Given the description of an element on the screen output the (x, y) to click on. 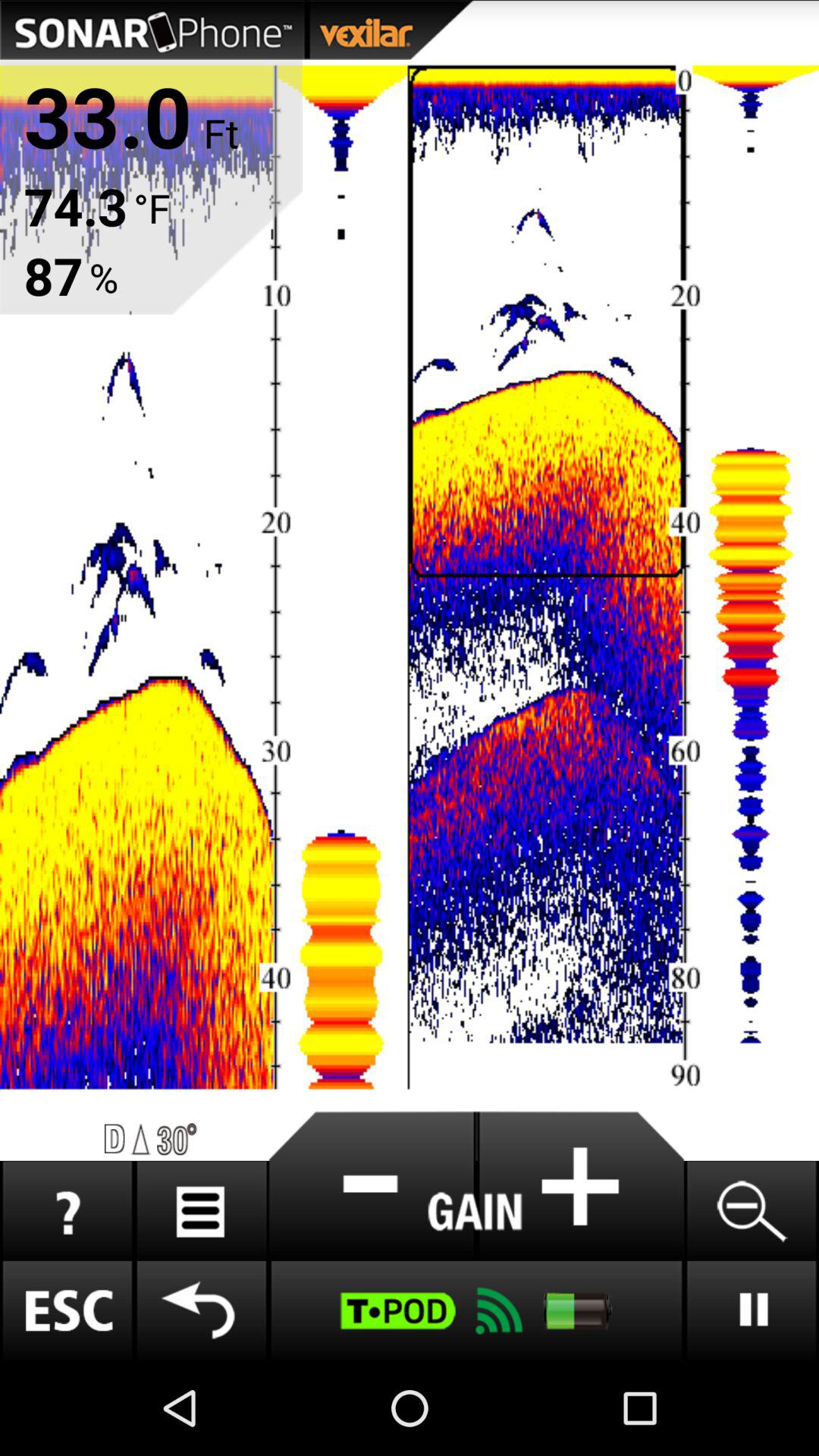
choose the selection (580, 1185)
